Given the description of an element on the screen output the (x, y) to click on. 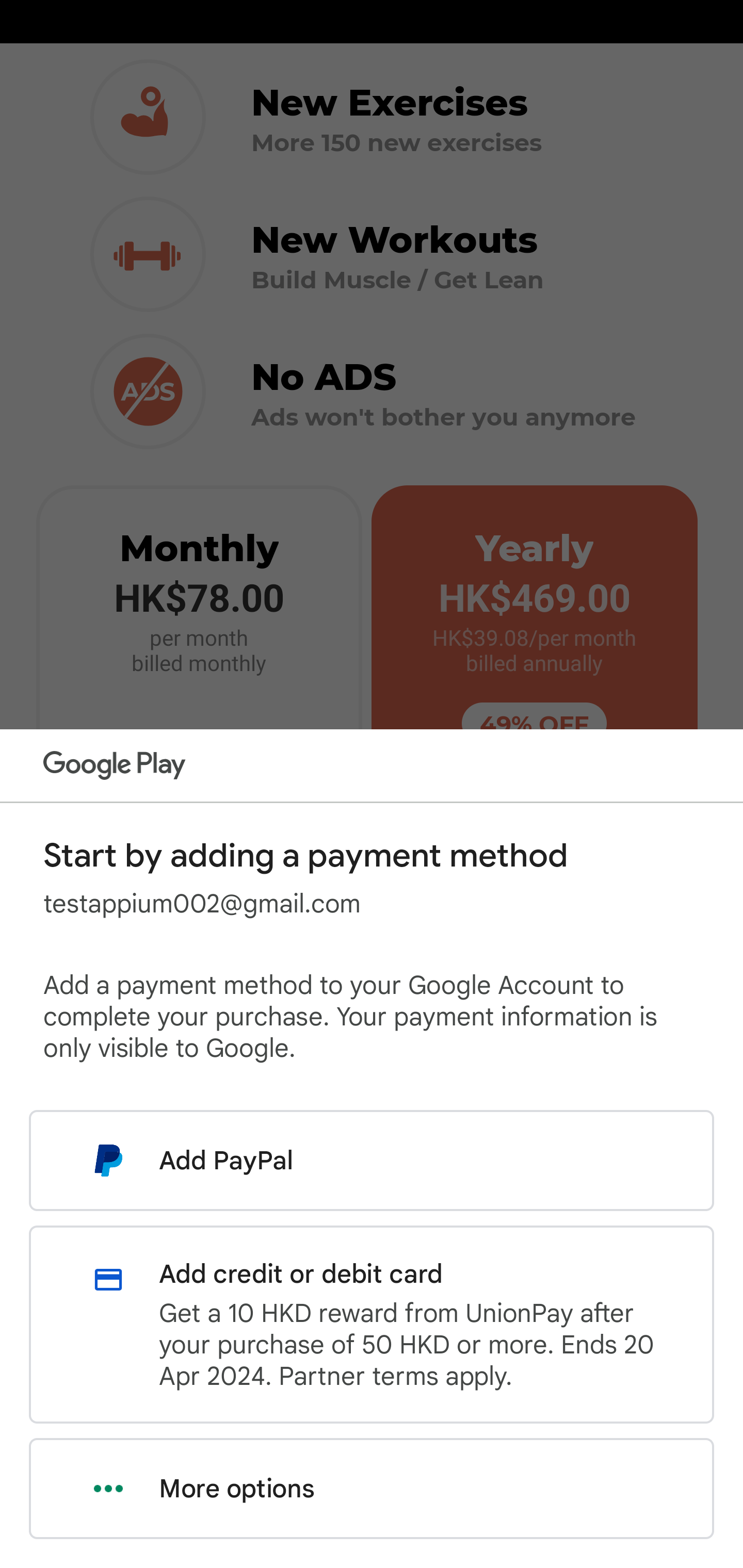
Add PayPal (371, 1160)
More options (371, 1488)
